Given the description of an element on the screen output the (x, y) to click on. 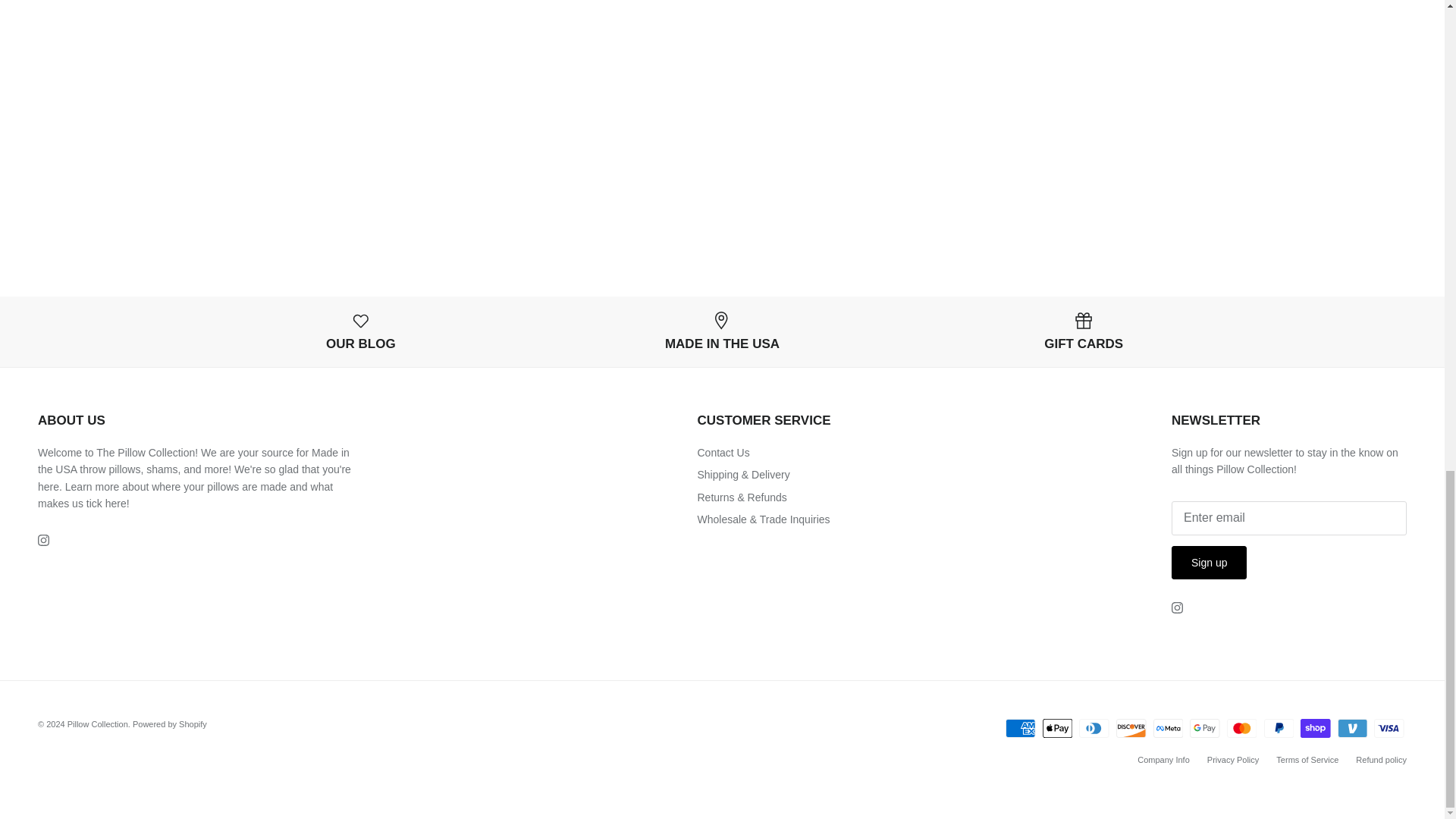
Diners Club (1093, 728)
Shop Pay (1315, 728)
Instagram (1177, 607)
Discover (1130, 728)
About Us: The Pillow Collection (115, 503)
American Express (1020, 728)
Apple Pay (1057, 728)
Venmo (1352, 728)
Instagram (43, 540)
Meta Pay (1168, 728)
